Given the description of an element on the screen output the (x, y) to click on. 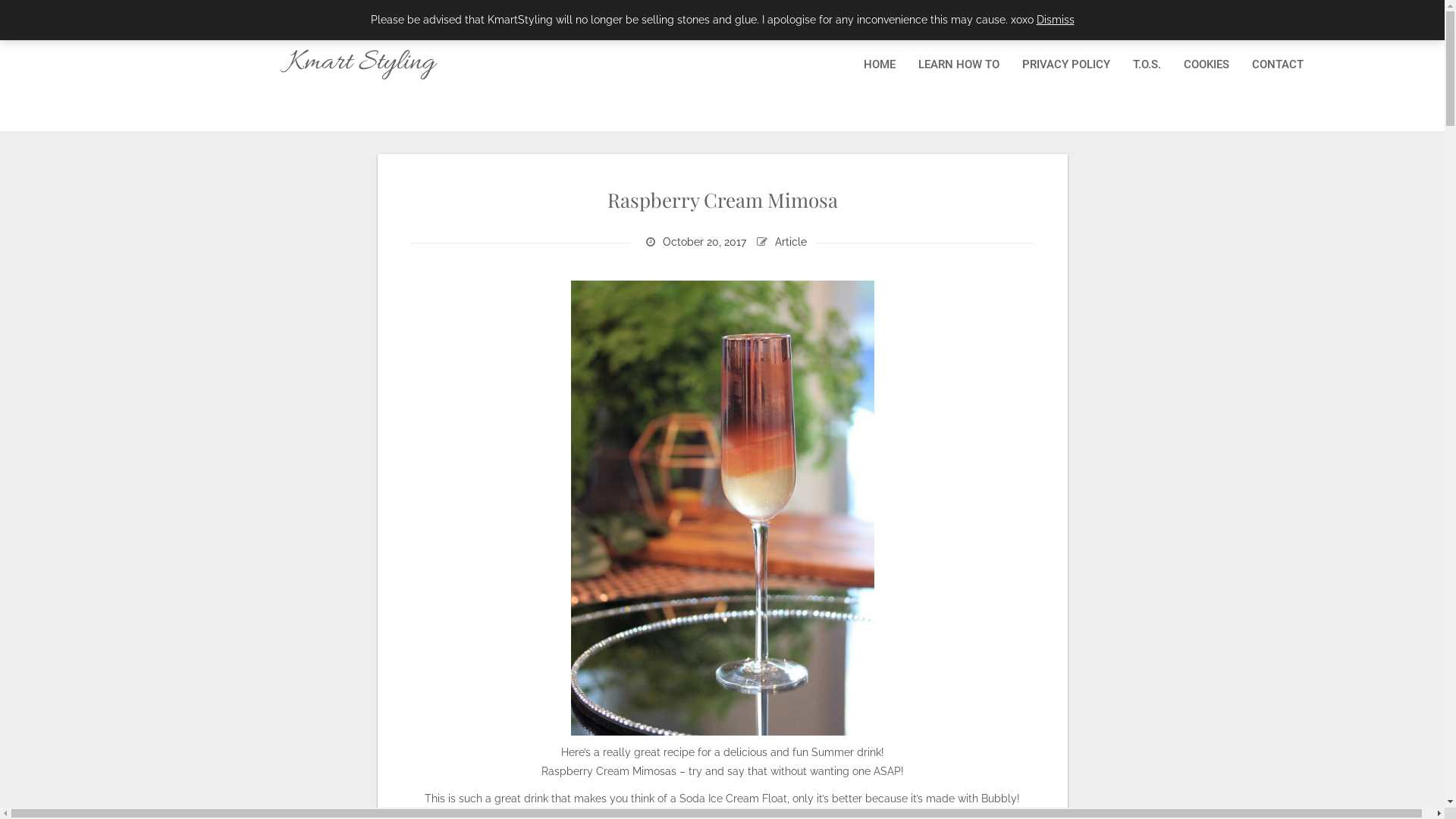
Dismiss Element type: text (1054, 19)
CONTACT Element type: text (1277, 64)
T.O.S. Element type: text (1146, 64)
HOME Element type: text (879, 64)
PRIVACY POLICY Element type: text (1066, 64)
COOKIES Element type: text (1206, 64)
Kmart Styling Element type: text (361, 62)
LEARN HOW TO Element type: text (958, 64)
